Given the description of an element on the screen output the (x, y) to click on. 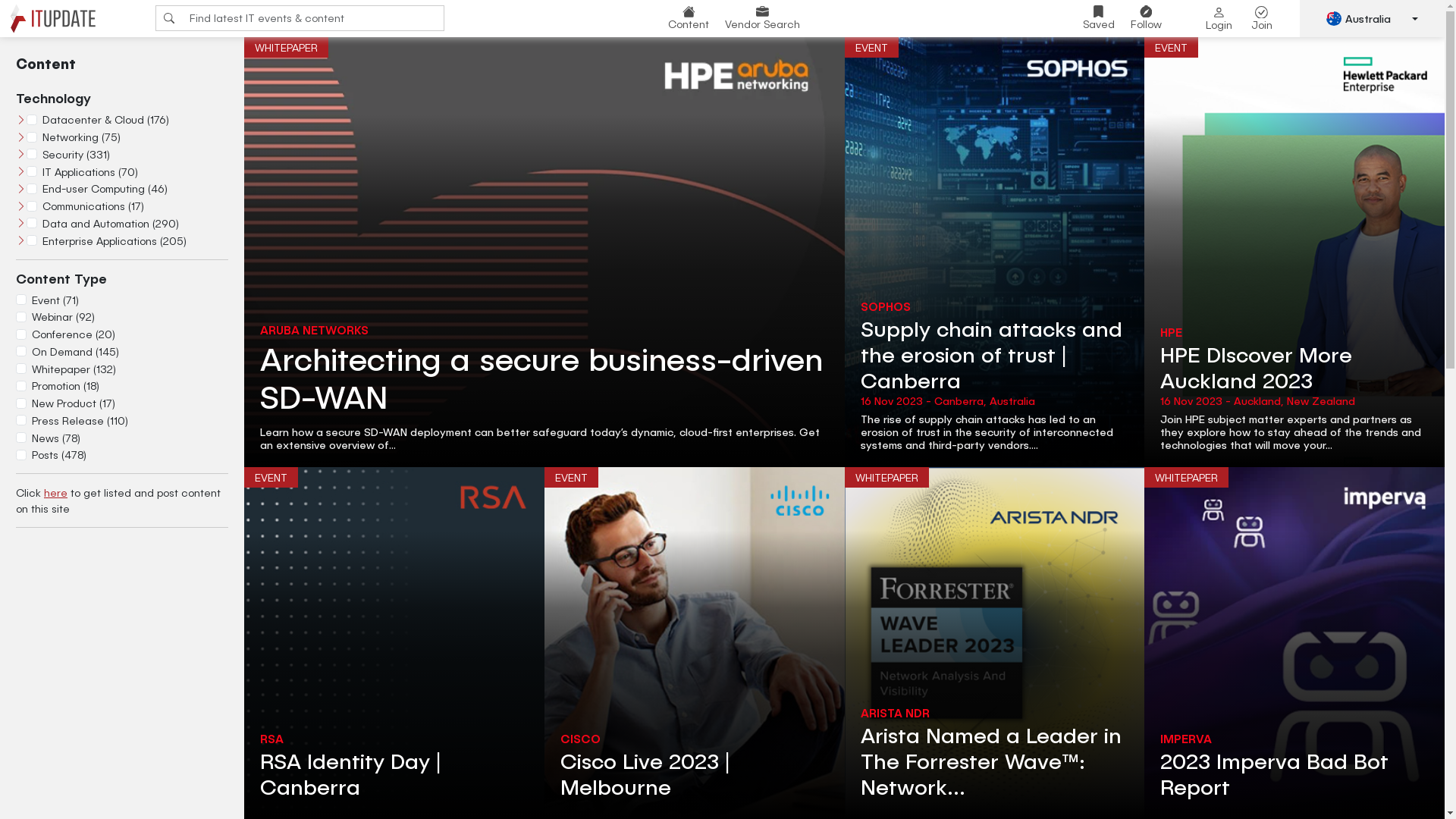
Vendor Search Element type: text (762, 18)
Content Element type: text (688, 18)
Join Element type: text (1261, 18)
here Element type: text (55, 492)
Login Element type: text (1218, 18)
Saved Element type: text (1098, 18)
Follow Element type: text (1145, 18)
Australia Element type: text (1372, 18)
